Given the description of an element on the screen output the (x, y) to click on. 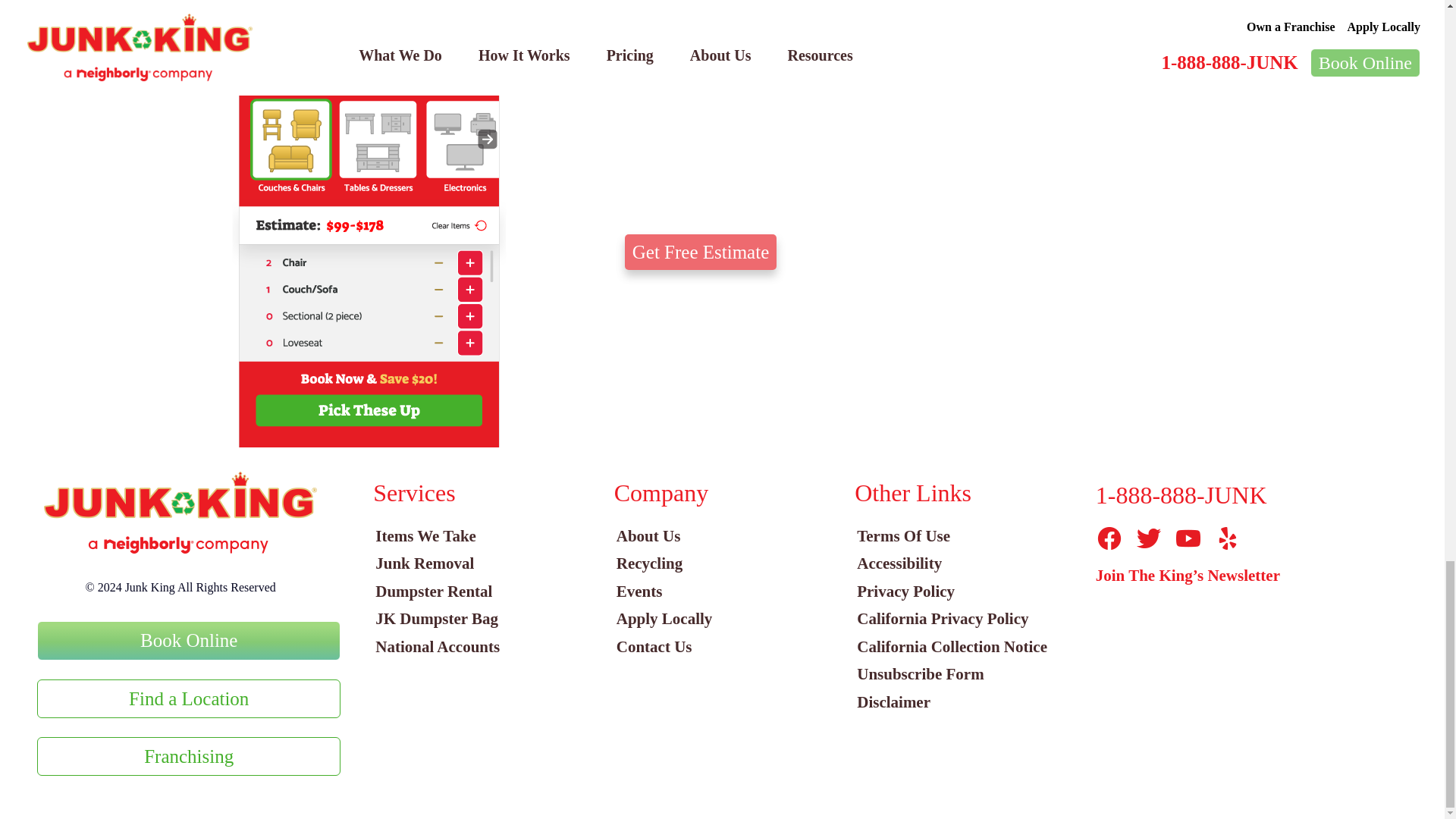
social icon (1188, 538)
social icon (1109, 538)
logo (180, 512)
social icon (1148, 538)
